Given the description of an element on the screen output the (x, y) to click on. 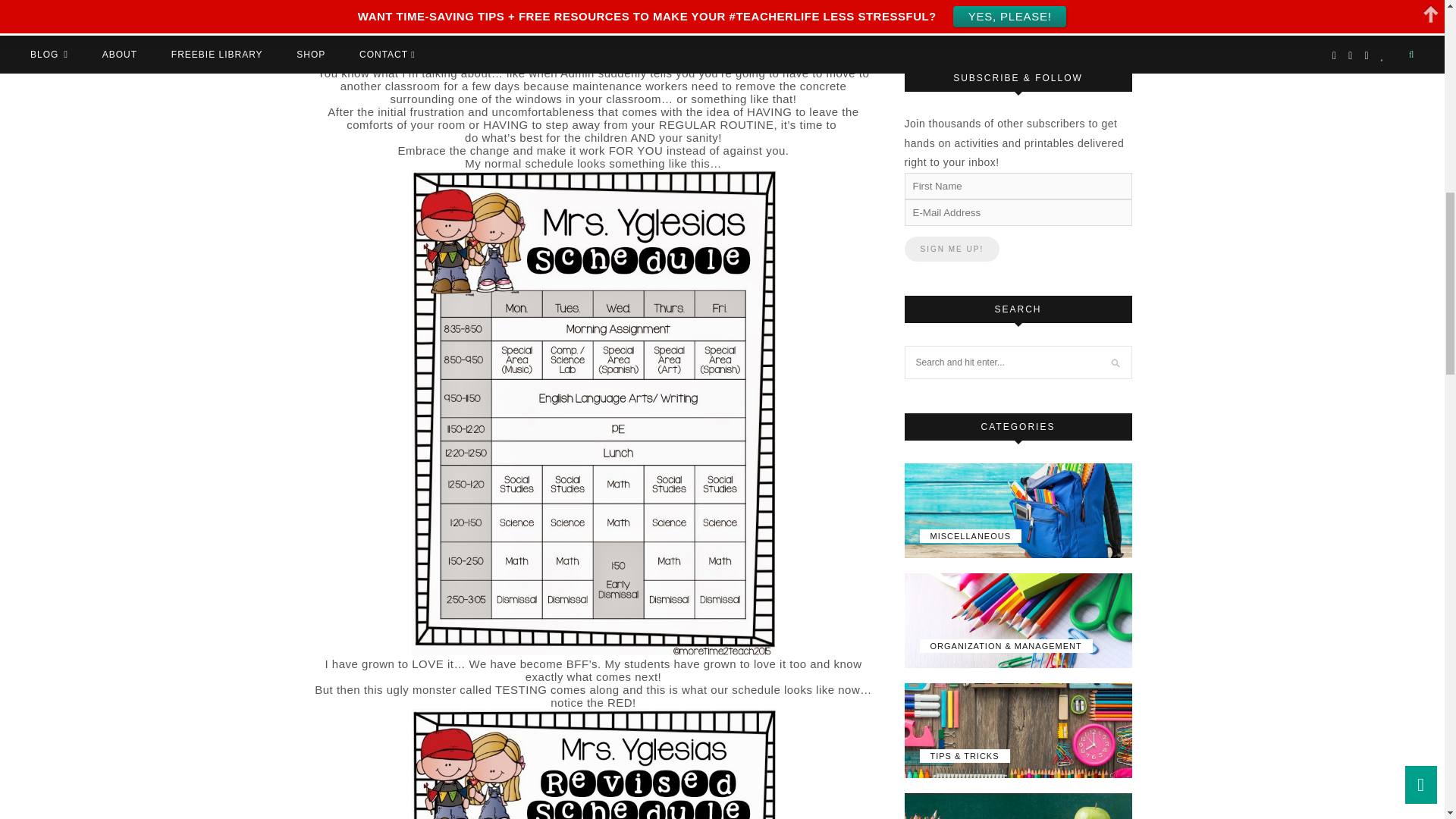
Sign Me Up! (951, 248)
